Given the description of an element on the screen output the (x, y) to click on. 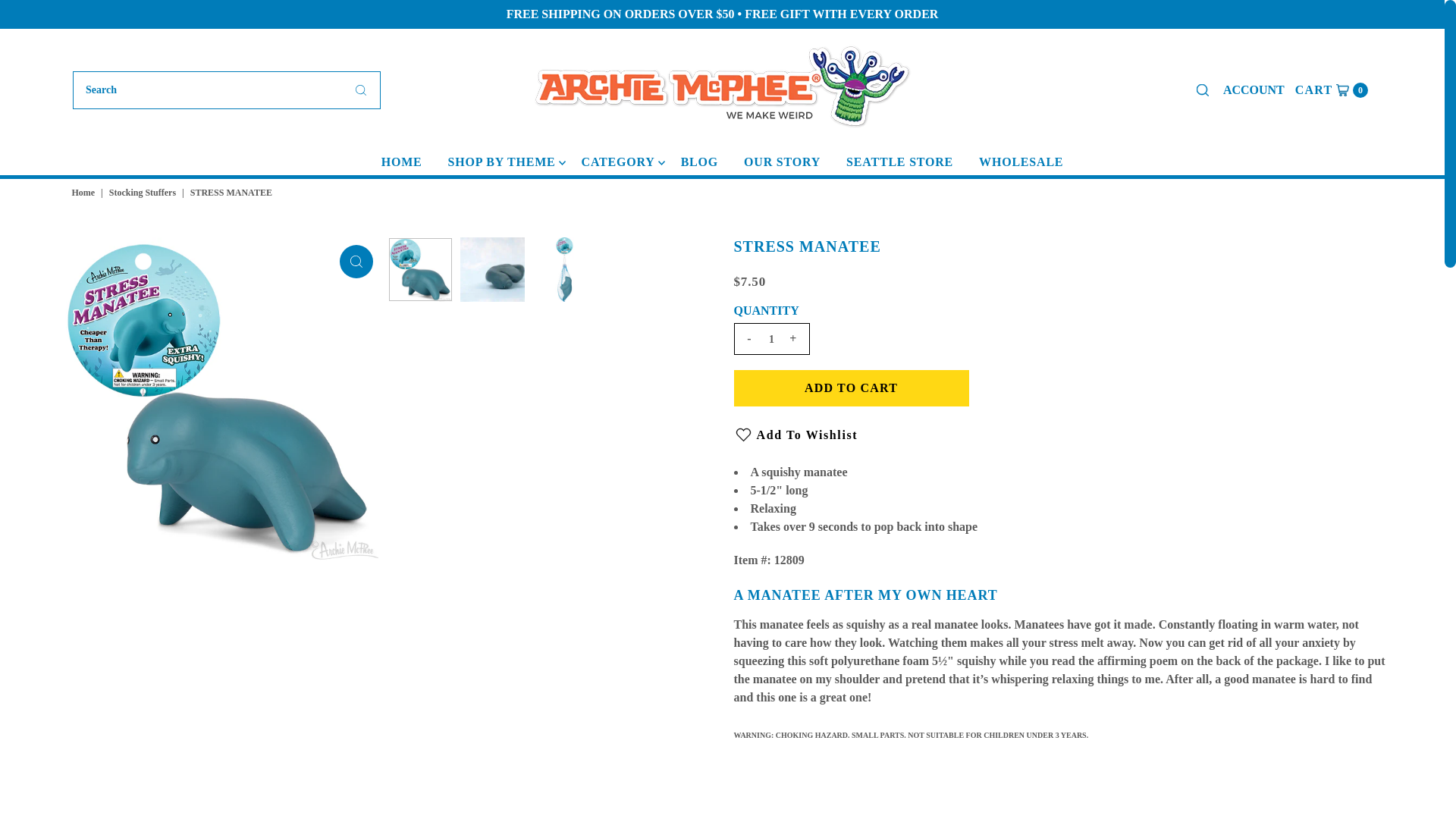
Home (85, 192)
ACCOUNT (1254, 89)
HOME (1331, 89)
Add to Cart (401, 161)
Click to zoom (851, 388)
SHOP BY THEME (355, 261)
